Given the description of an element on the screen output the (x, y) to click on. 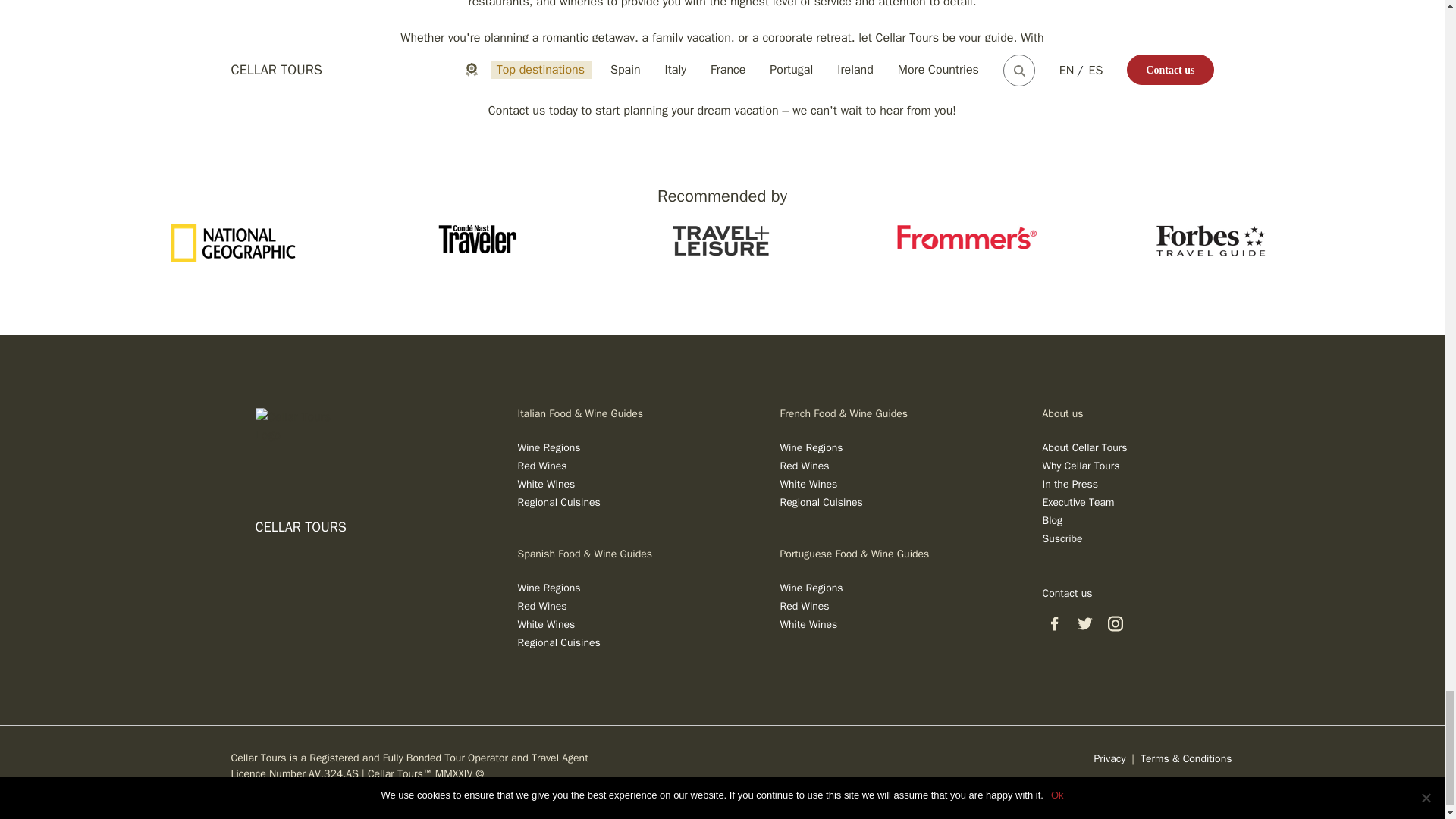
A Guide to Spanish Red Wines (541, 605)
A Guide to Italian Regional Cuisine (557, 502)
A Guide to Spanish White Wines (545, 624)
A Guide to French Wine Regions (810, 447)
A Guide to Italian White Wines (545, 483)
A Guide to Spanish Regional Cuisine (557, 642)
A Guide to French White Wines (807, 483)
A Guide to French Regional Cuisine (819, 502)
A Guide to Italian Wine Regions (547, 447)
A Guide to Spanish Wine Regions (547, 587)
A Guide to French Red Wines (803, 465)
A Guide to Italian Red Wines (541, 465)
